Given the description of an element on the screen output the (x, y) to click on. 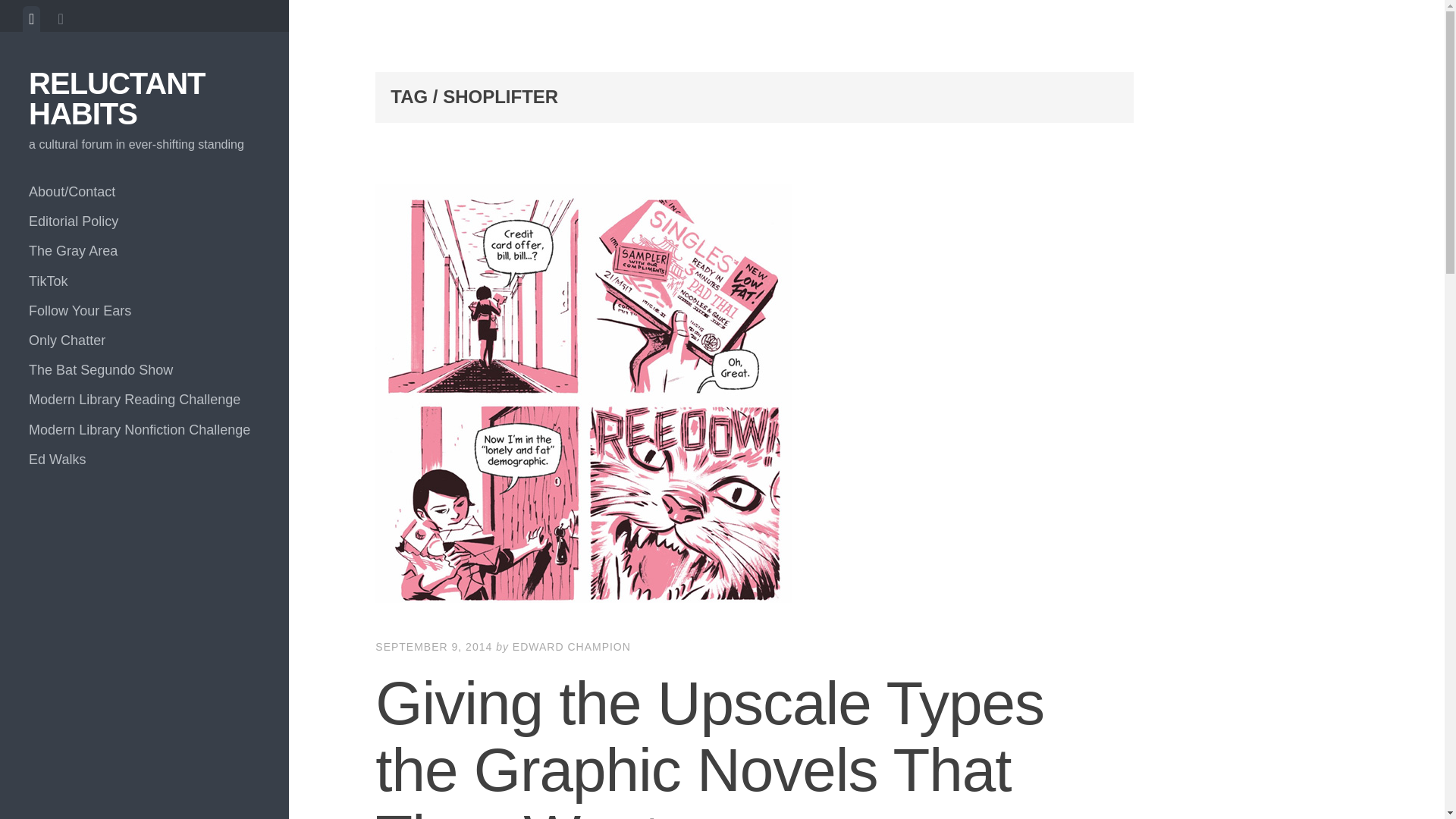
The Gray Area (144, 251)
RELUCTANT HABITS (117, 98)
Follow Your Ears (144, 310)
Only Chatter (144, 340)
Ed Walks (144, 460)
Modern Library Reading Challenge (144, 399)
Editorial Policy (144, 221)
Modern Library Nonfiction Challenge (144, 430)
TikTok (144, 281)
The Bat Segundo Show (144, 369)
